Given the description of an element on the screen output the (x, y) to click on. 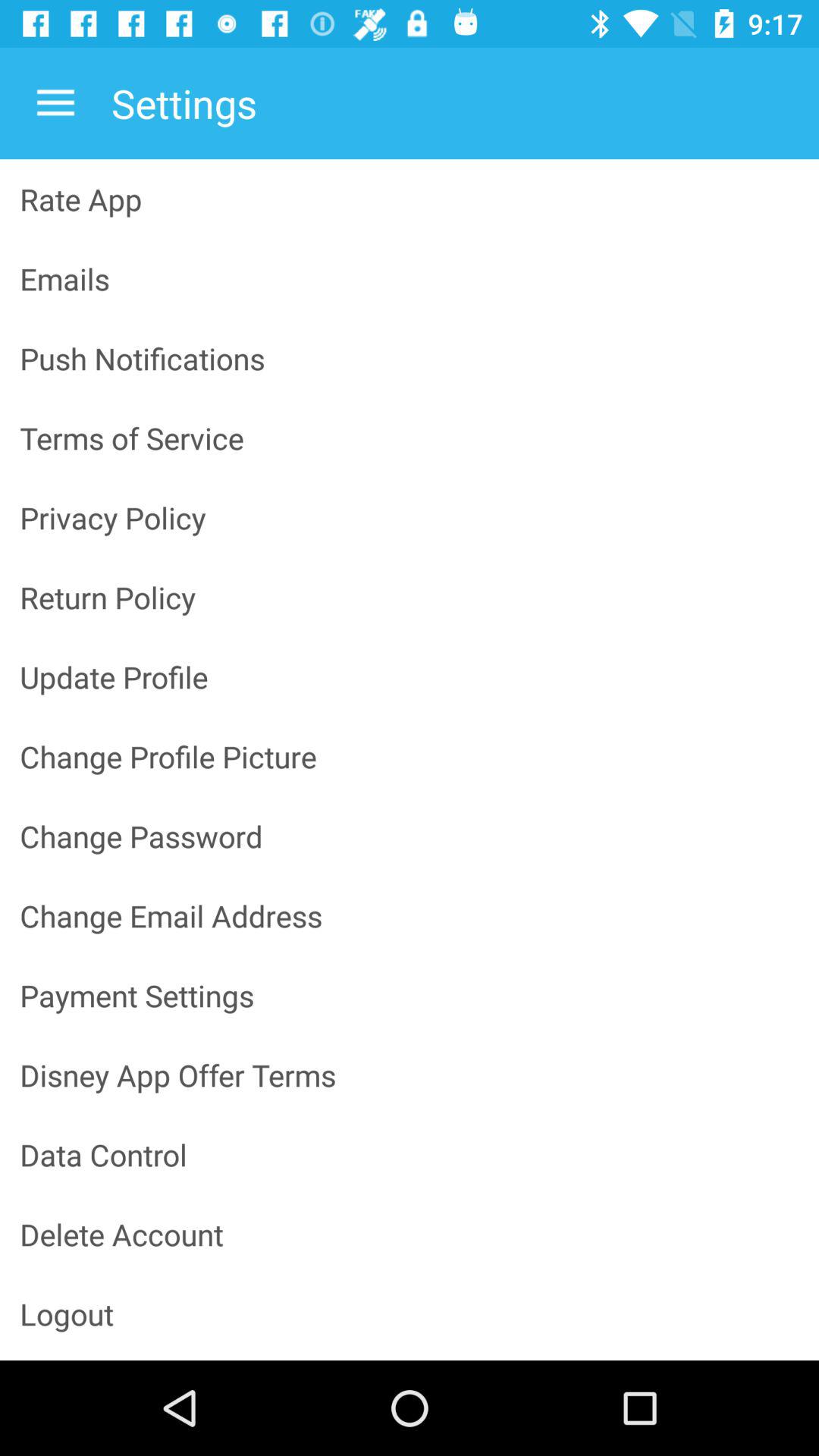
open item above the rate app item (55, 103)
